Given the description of an element on the screen output the (x, y) to click on. 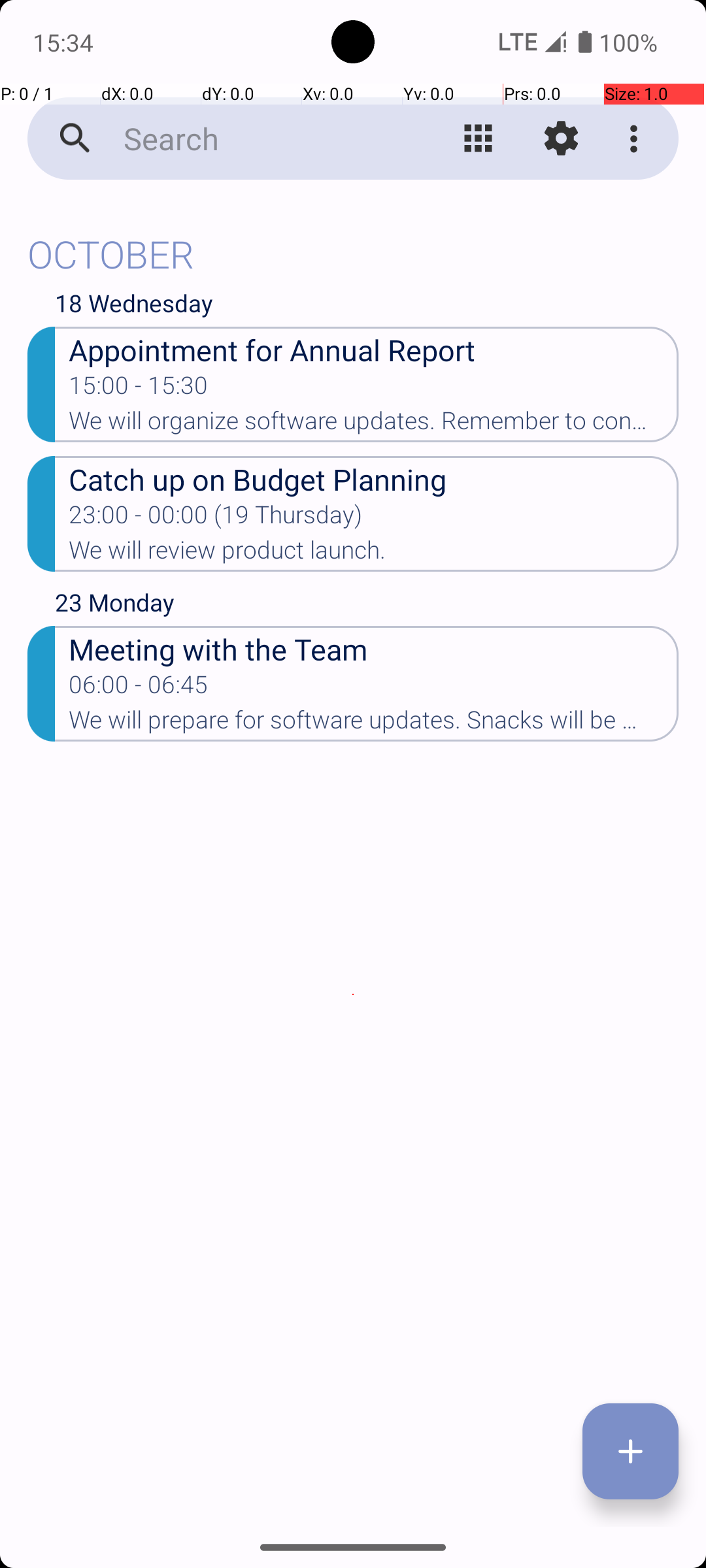
18 Wednesday Element type: android.widget.TextView (366, 306)
23 Monday Element type: android.widget.TextView (366, 605)
Appointment for Annual Report Element type: android.widget.TextView (373, 348)
15:00 - 15:30 Element type: android.widget.TextView (137, 389)
We will organize software updates. Remember to confirm attendance. Element type: android.widget.TextView (373, 424)
Catch up on Budget Planning Element type: android.widget.TextView (373, 478)
23:00 - 00:00 (19 Thursday) Element type: android.widget.TextView (215, 518)
We will review product launch. Element type: android.widget.TextView (373, 553)
Meeting with the Team Element type: android.widget.TextView (373, 647)
06:00 - 06:45 Element type: android.widget.TextView (137, 688)
We will prepare for software updates. Snacks will be provided. Element type: android.widget.TextView (373, 723)
